Given the description of an element on the screen output the (x, y) to click on. 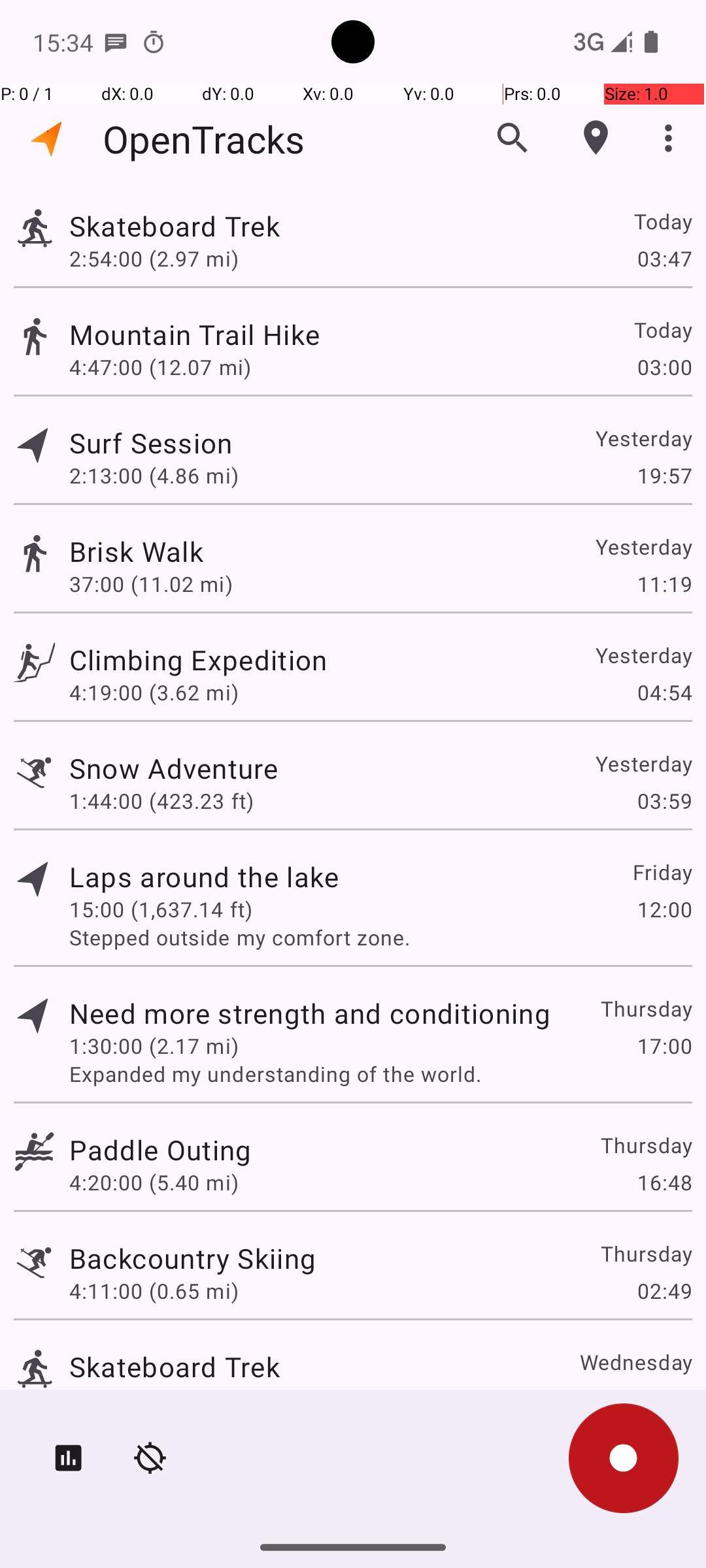
Skateboard Trek Element type: android.widget.TextView (174, 225)
2:54:00 (2.97 mi) Element type: android.widget.TextView (153, 258)
03:47 Element type: android.widget.TextView (664, 258)
Mountain Trail Hike Element type: android.widget.TextView (194, 333)
4:47:00 (12.07 mi) Element type: android.widget.TextView (159, 366)
03:00 Element type: android.widget.TextView (664, 366)
Surf Session Element type: android.widget.TextView (150, 442)
2:13:00 (4.86 mi) Element type: android.widget.TextView (153, 475)
19:57 Element type: android.widget.TextView (664, 475)
Brisk Walk Element type: android.widget.TextView (135, 550)
37:00 (11.02 mi) Element type: android.widget.TextView (150, 583)
11:19 Element type: android.widget.TextView (664, 583)
Climbing Expedition Element type: android.widget.TextView (197, 659)
4:19:00 (3.62 mi) Element type: android.widget.TextView (153, 692)
04:54 Element type: android.widget.TextView (664, 692)
Snow Adventure Element type: android.widget.TextView (173, 767)
1:44:00 (423.23 ft) Element type: android.widget.TextView (161, 800)
03:59 Element type: android.widget.TextView (664, 800)
Laps around the lake Element type: android.widget.TextView (203, 876)
15:00 (1,637.14 ft) Element type: android.widget.TextView (160, 909)
Stepped outside my comfort zone. Element type: android.widget.TextView (380, 937)
Need more strength and conditioning Element type: android.widget.TextView (309, 1012)
1:30:00 (2.17 mi) Element type: android.widget.TextView (153, 1045)
Expanded my understanding of the world. Element type: android.widget.TextView (380, 1073)
Paddle Outing Element type: android.widget.TextView (159, 1149)
4:20:00 (5.40 mi) Element type: android.widget.TextView (153, 1182)
16:48 Element type: android.widget.TextView (664, 1182)
Backcountry Skiing Element type: android.widget.TextView (192, 1257)
4:11:00 (0.65 mi) Element type: android.widget.TextView (153, 1290)
02:49 Element type: android.widget.TextView (664, 1290)
4:39:00 (7.04 mi) Element type: android.widget.TextView (153, 1399)
12:40 Element type: android.widget.TextView (664, 1399)
